Given the description of an element on the screen output the (x, y) to click on. 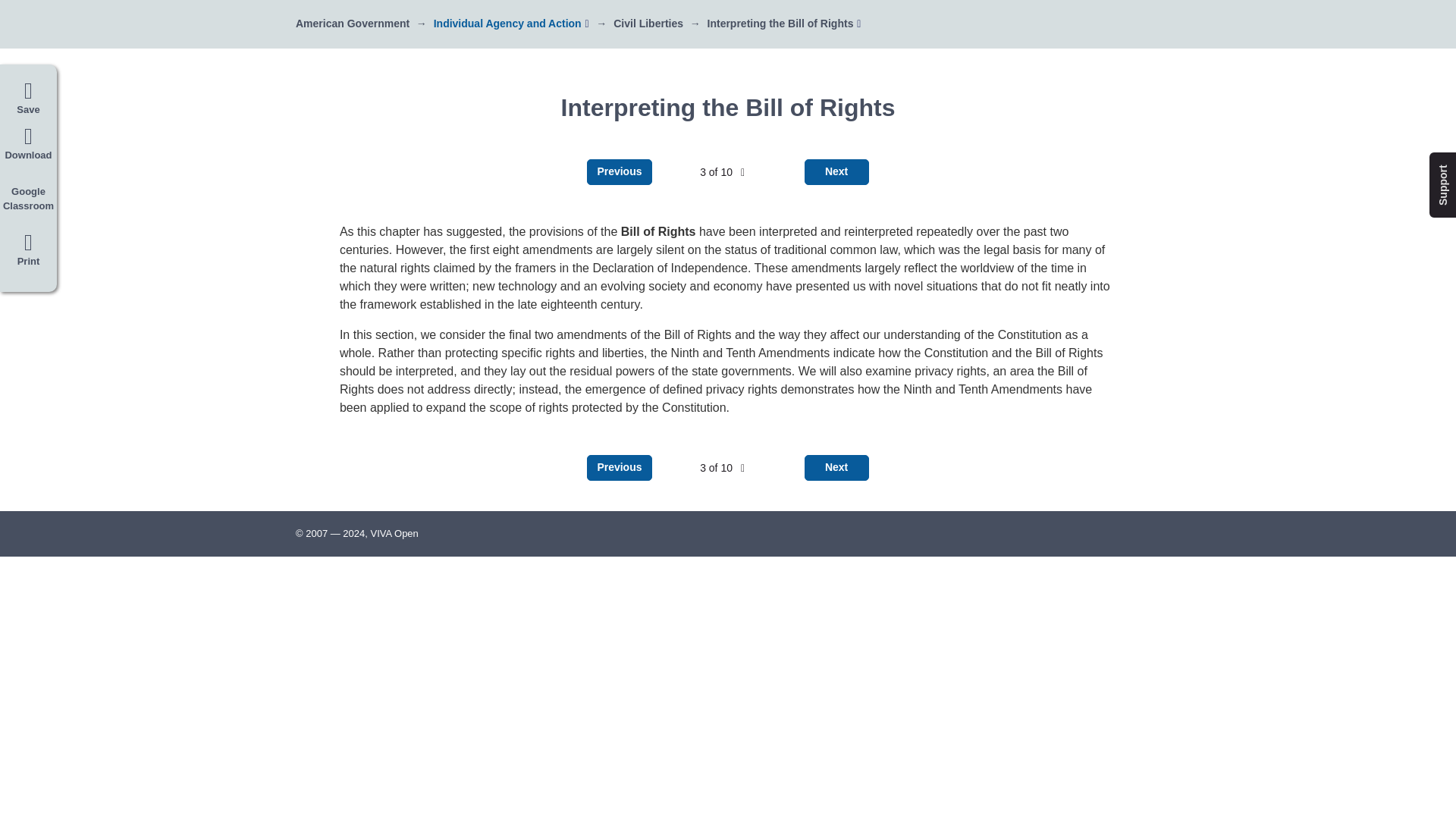
3 of 10 (722, 172)
Download (28, 144)
Print (28, 253)
Previous (618, 171)
Save (28, 98)
Download (28, 144)
Previous (618, 171)
Next (837, 171)
Previous (618, 467)
Individual Agency and Action (506, 23)
